Given the description of an element on the screen output the (x, y) to click on. 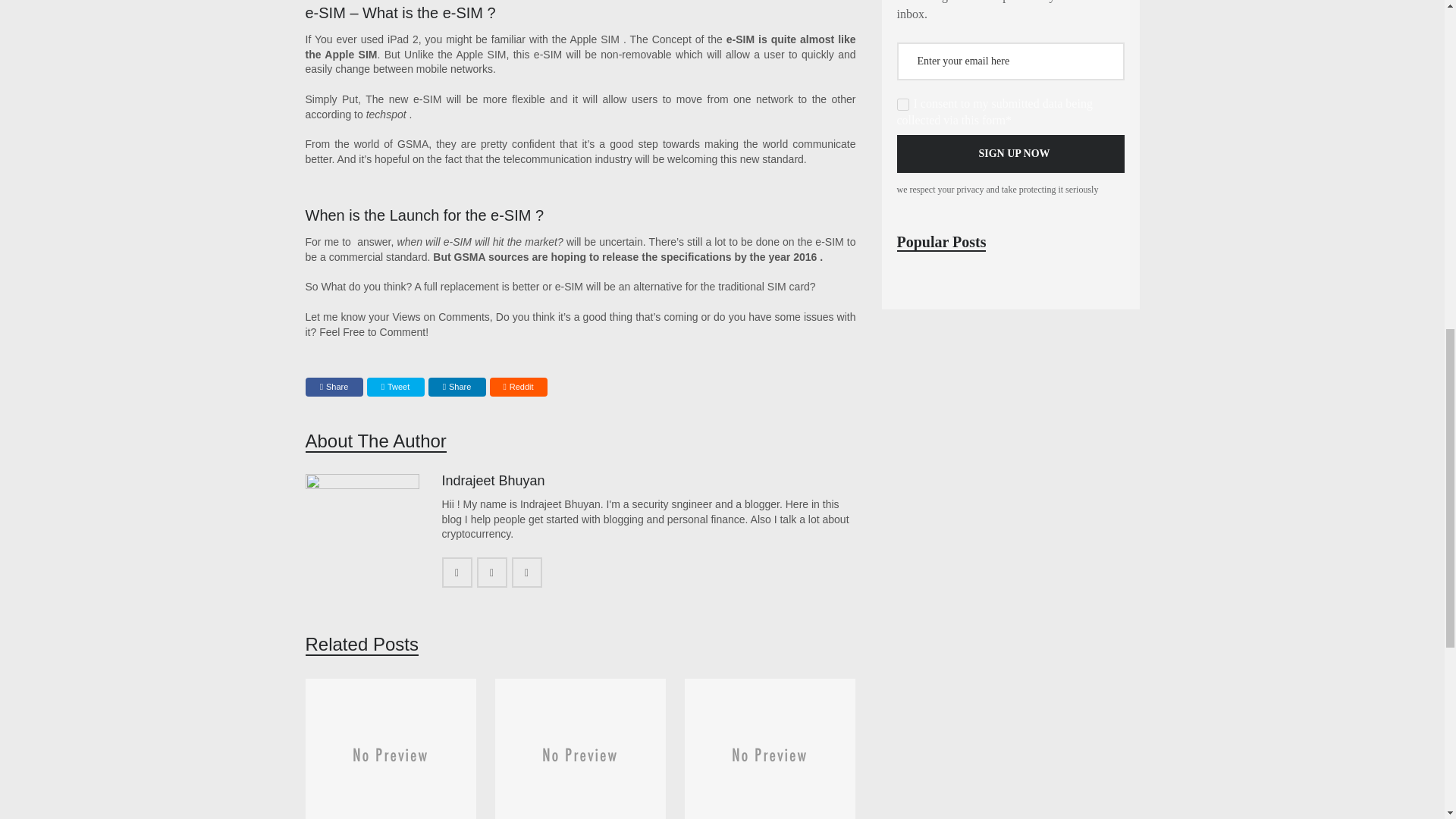
Sign Up Now (1010, 153)
5 Free Online Computer Programming Courses (770, 748)
Reddit (518, 386)
Share (333, 386)
Indrajeet Bhuyan (492, 480)
Share (456, 386)
Enter your email here (1010, 61)
Sign Up Now (1010, 153)
on (902, 104)
Tweet (395, 386)
OnePlus One Review (580, 748)
